Given the description of an element on the screen output the (x, y) to click on. 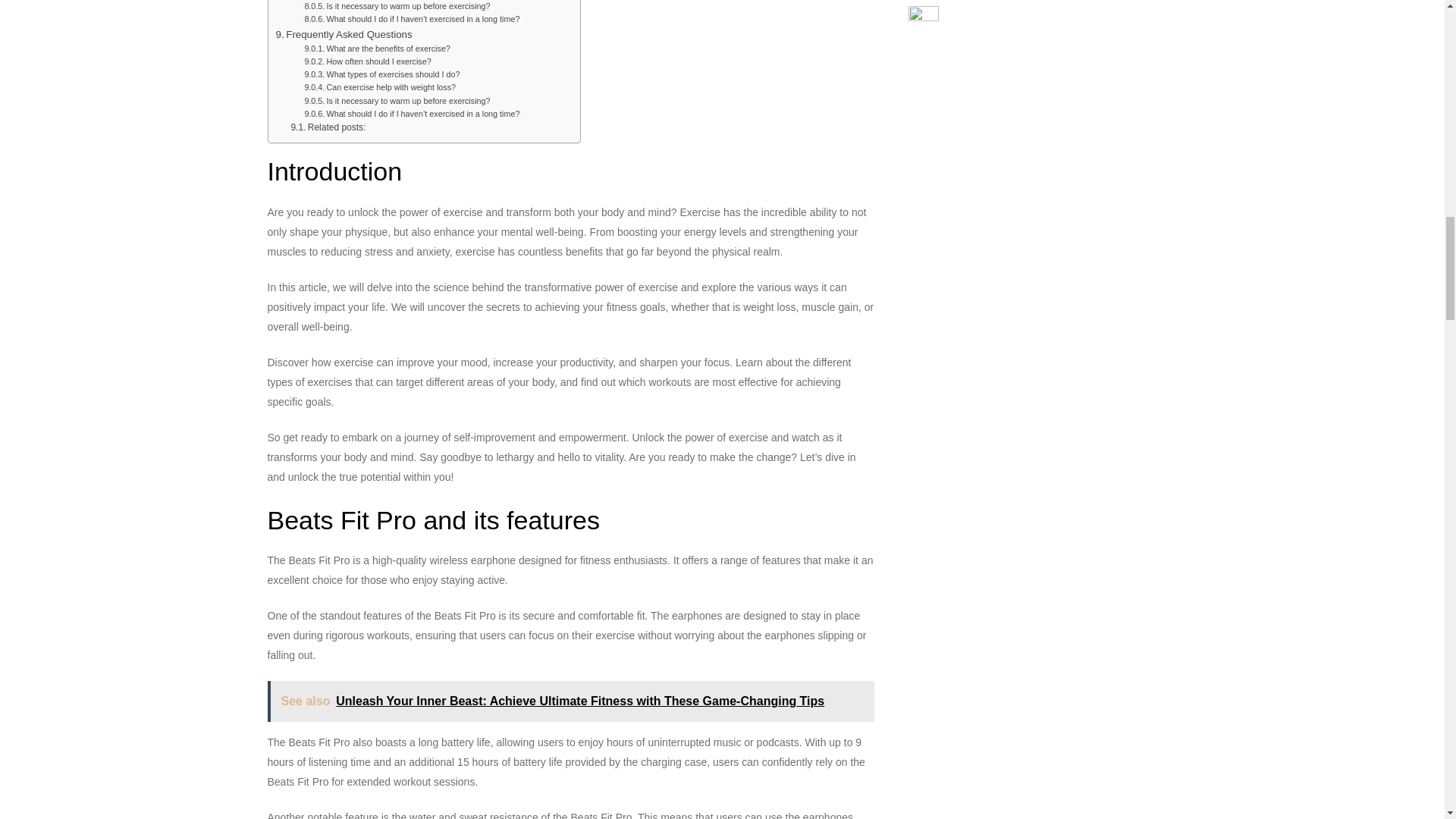
Frequently Asked Questions (344, 33)
How often should I exercise? (367, 61)
Can exercise help with weight loss? (379, 87)
Related posts: (327, 127)
Frequently Asked Questions (344, 33)
What types of exercises should I do? (382, 74)
Is it necessary to warm up before exercising? (396, 6)
Is it necessary to warm up before exercising? (396, 101)
Is it necessary to warm up before exercising? (396, 6)
